Given the description of an element on the screen output the (x, y) to click on. 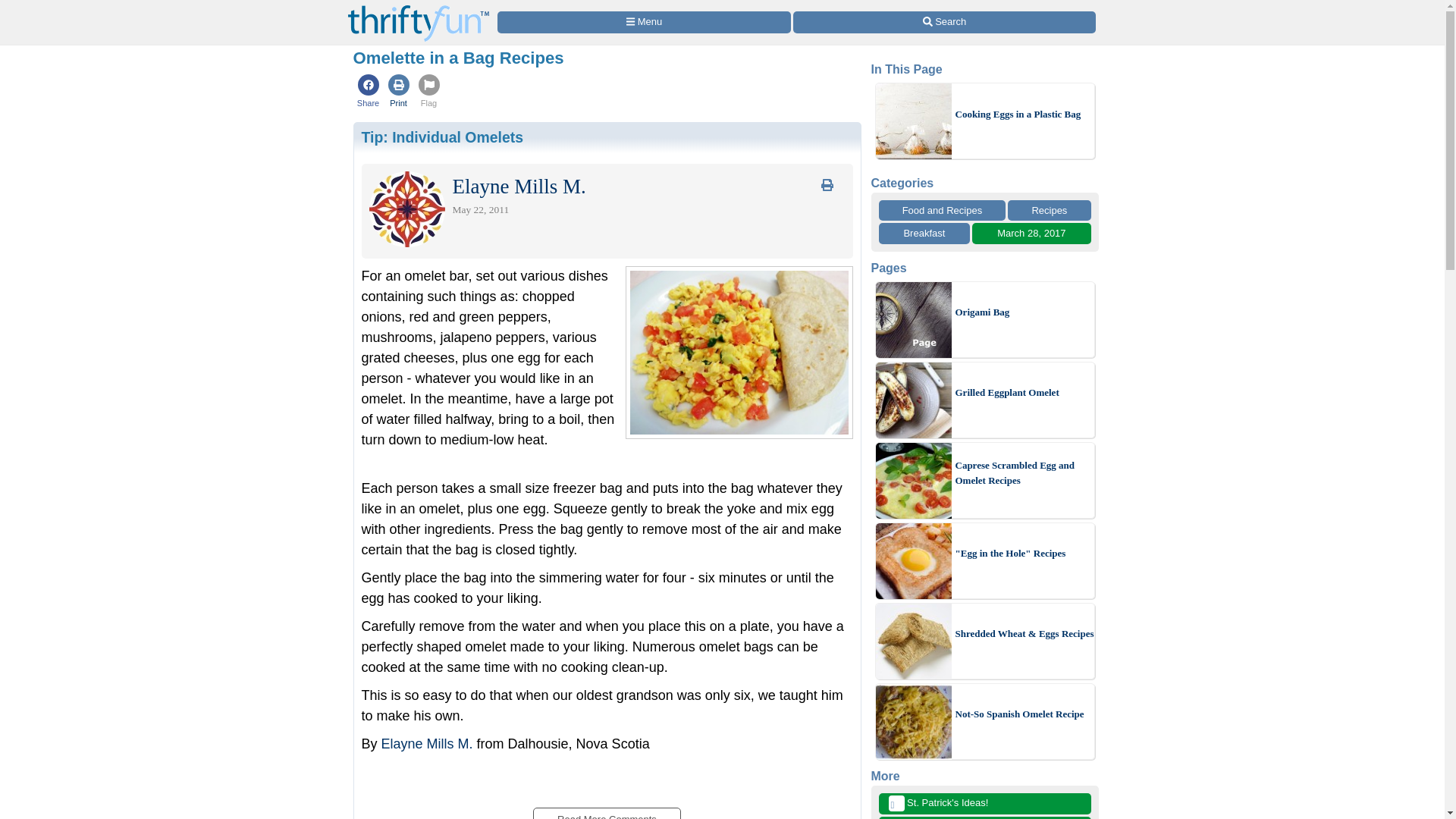
Elayne Mills M. (427, 743)
Share (368, 92)
Elayne Mills M. (518, 189)
Read More Comments (605, 813)
Flag (428, 92)
Tip: Individual Omelets (441, 136)
Print (398, 92)
